Given the description of an element on the screen output the (x, y) to click on. 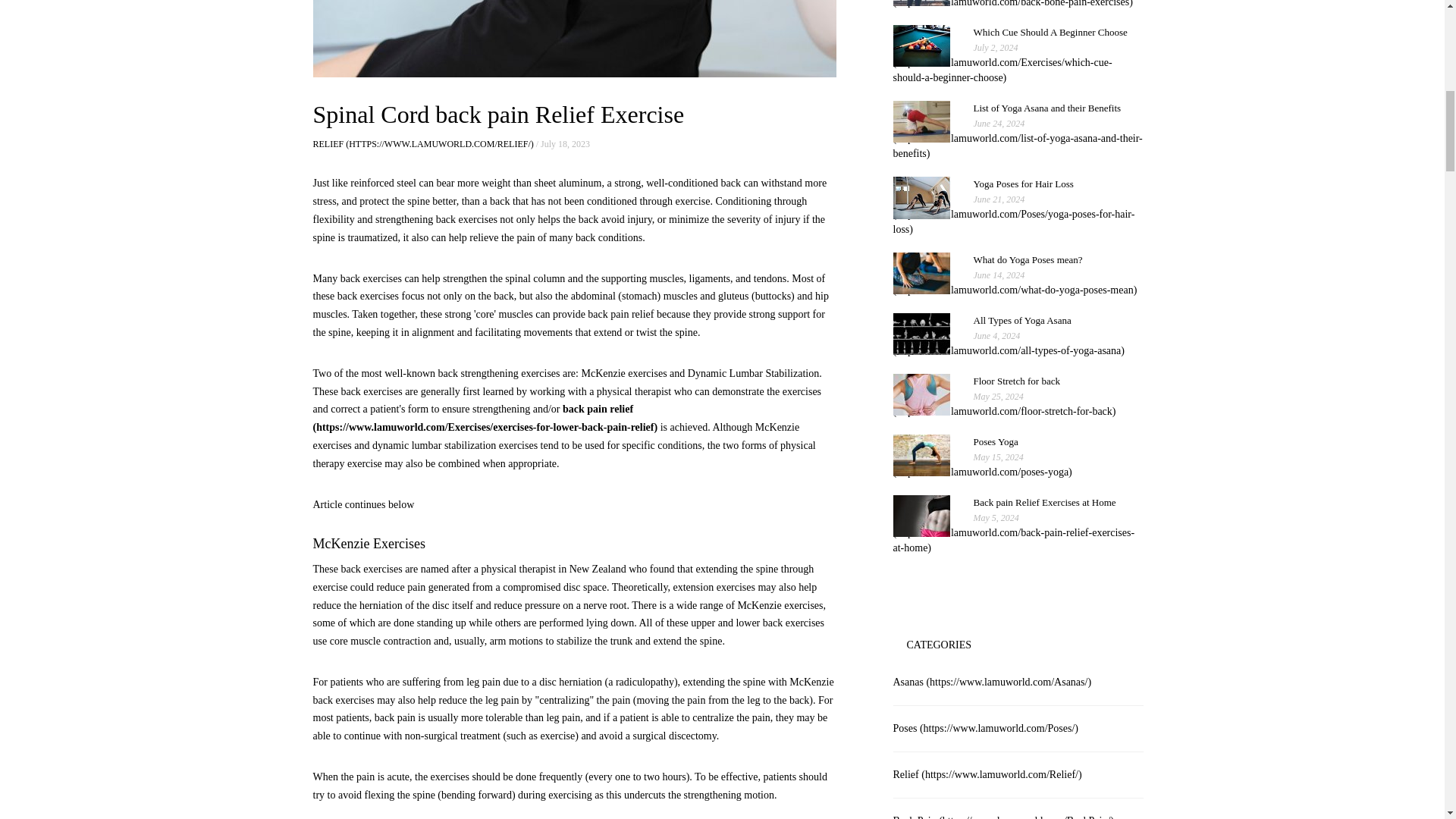
View all posts filed under Relief (987, 774)
View all posts filed under Back Pain (1004, 816)
Exercises for Lower back pain Relief (485, 418)
back pain relief (485, 418)
View all posts filed under Poses (985, 727)
RELIEF (422, 143)
View all posts filed under Asanas (992, 681)
